Given the description of an element on the screen output the (x, y) to click on. 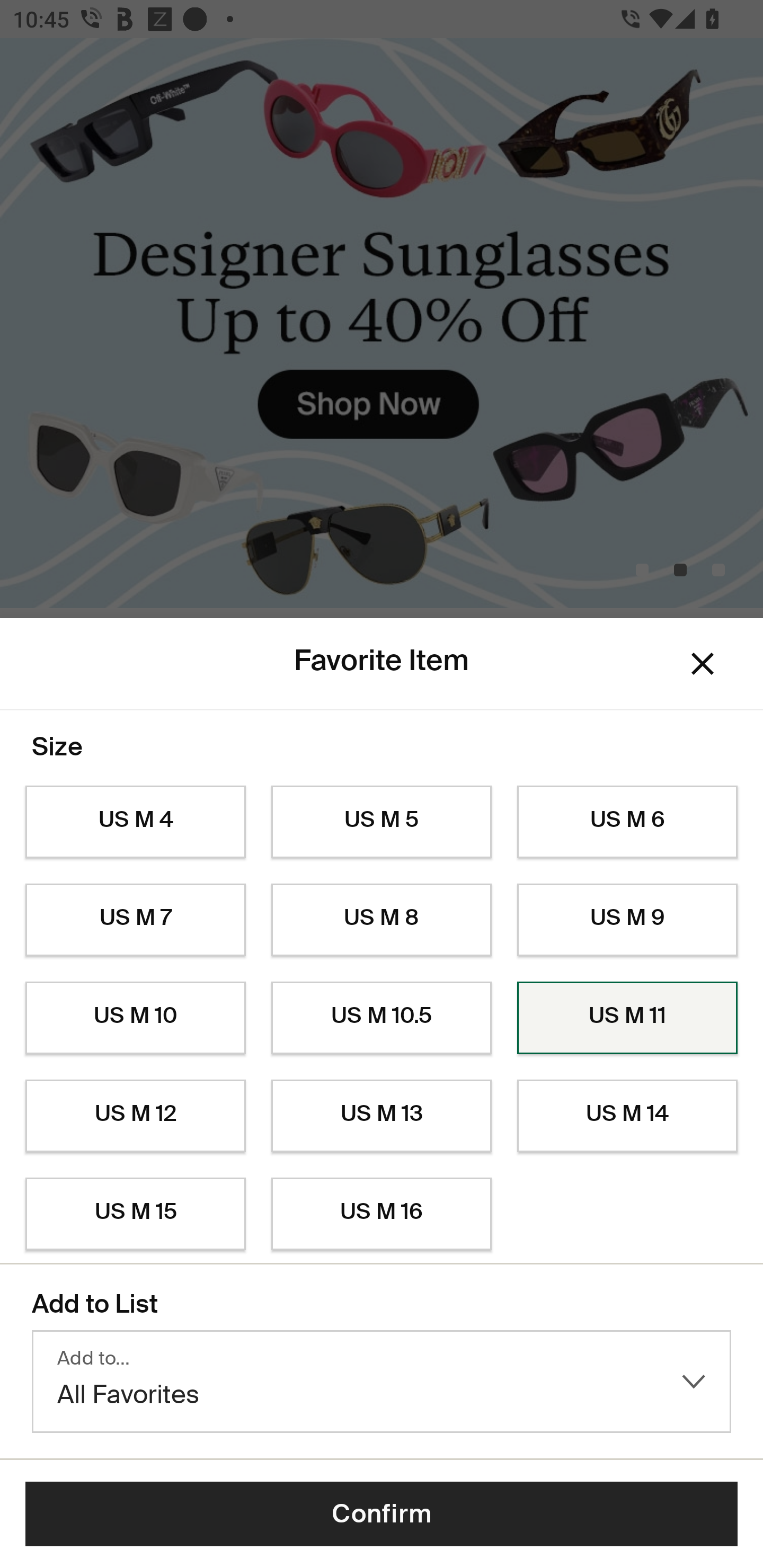
Dismiss (702, 663)
US M 4 (135, 822)
US M 5 (381, 822)
US M 6 (627, 822)
US M 7 (135, 919)
US M 8 (381, 919)
US M 9 (627, 919)
US M 10 (135, 1018)
US M 10.5 (381, 1018)
US M 11 (627, 1018)
US M 12 (135, 1116)
US M 13 (381, 1116)
US M 14 (627, 1116)
US M 15 (135, 1214)
US M 16 (381, 1214)
Add to… All Favorites (381, 1381)
Confirm (381, 1513)
